Given the description of an element on the screen output the (x, y) to click on. 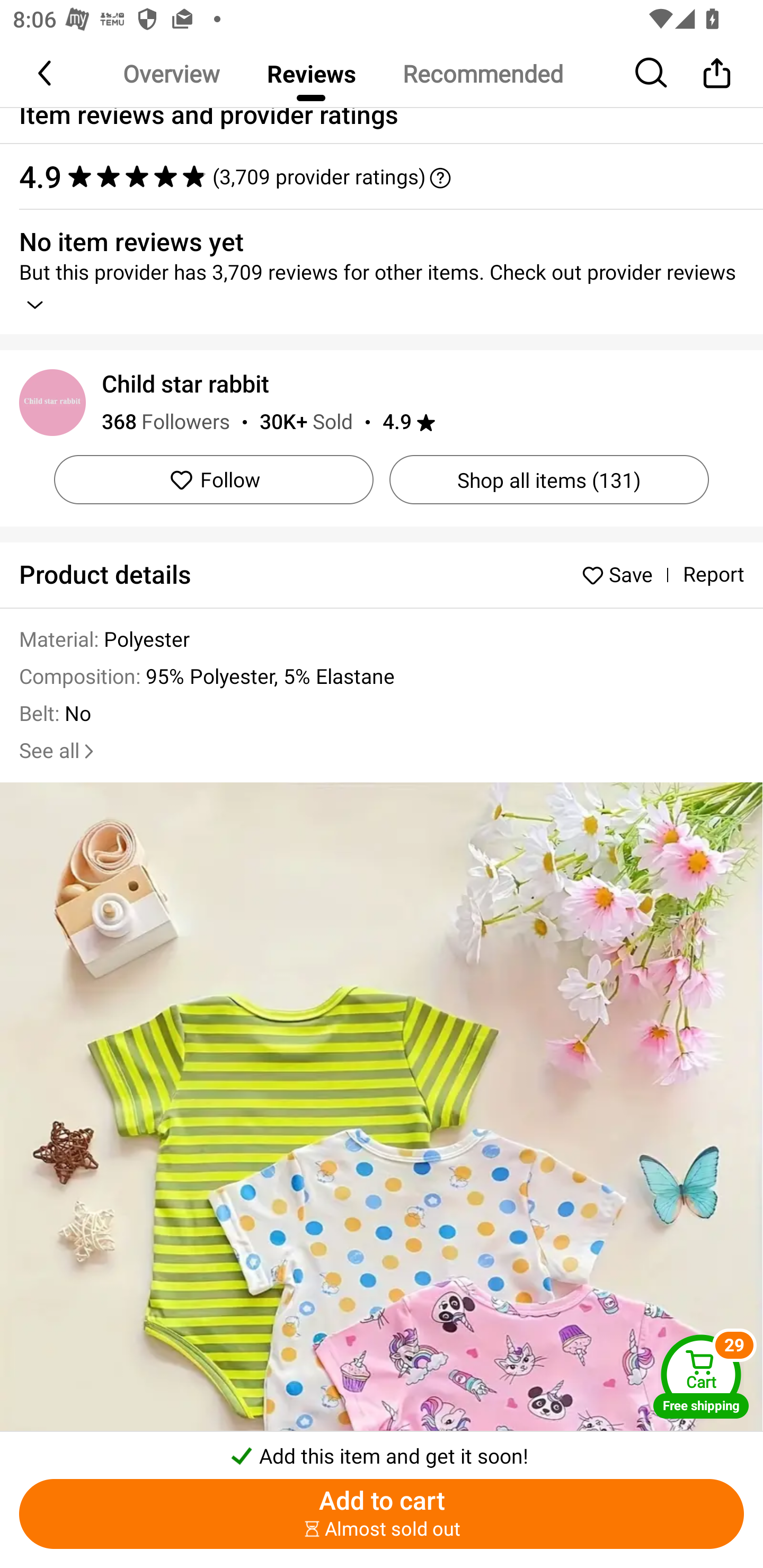
Overview (171, 72)
Reviews (311, 72)
Recommended (482, 72)
Back (46, 72)
Share (716, 72)
4.9 ‪(3,709 provider ratings) (371, 176)
  Follow (213, 479)
Shop all items (131) (548, 479)
Report (712, 575)
 Save (621, 574)
See all  (58, 750)
Cart Free shipping Cart (701, 1375)
￼￼Add this item and get it soon!  (381, 1450)
Add to cart ￼￼Almost sold out (381, 1513)
